Given the description of an element on the screen output the (x, y) to click on. 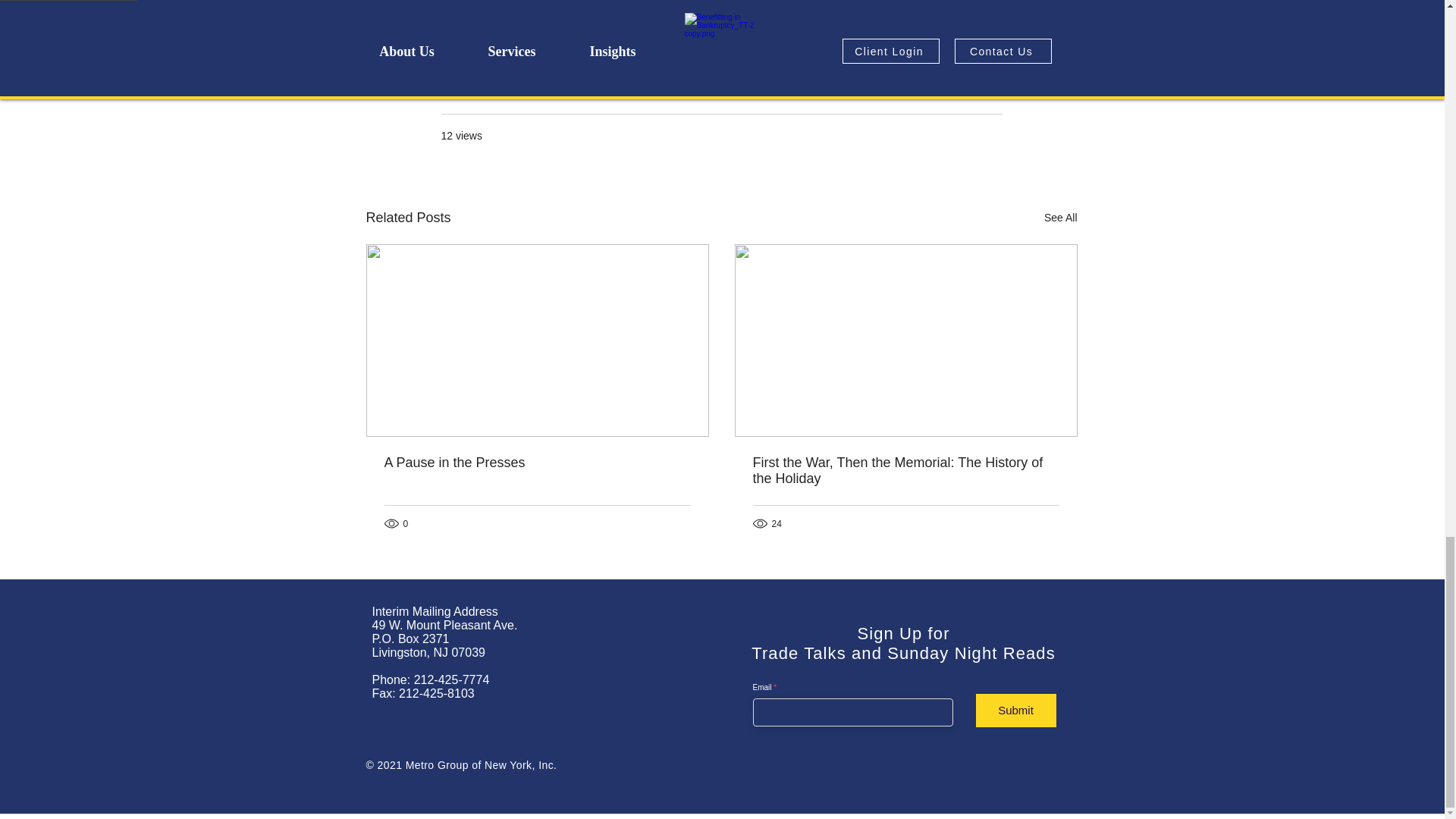
Sunday Night Reads (952, 90)
A Pause in the Presses (537, 462)
See All (1060, 218)
Submit (1015, 710)
First the War, Then the Memorial: The History of the Holiday (905, 470)
